Given the description of an element on the screen output the (x, y) to click on. 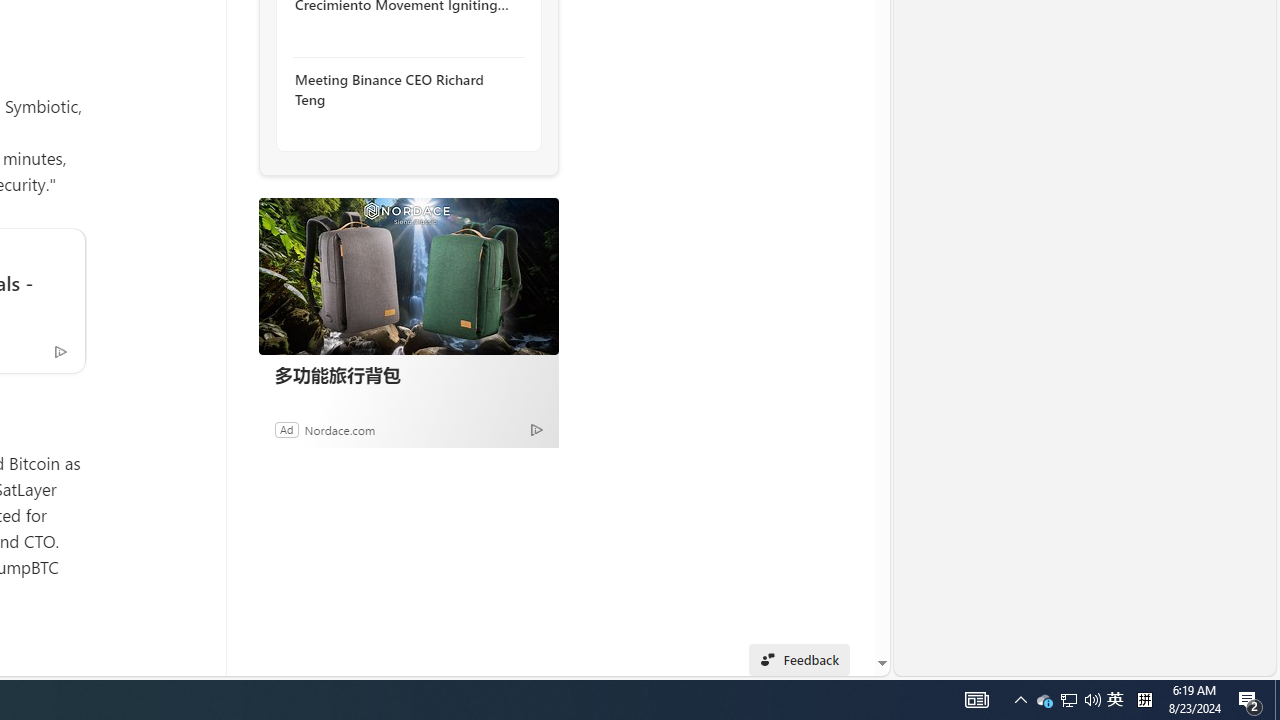
Nordace.com (339, 429)
Meeting Binance CEO Richard Teng (403, 89)
